Given the description of an element on the screen output the (x, y) to click on. 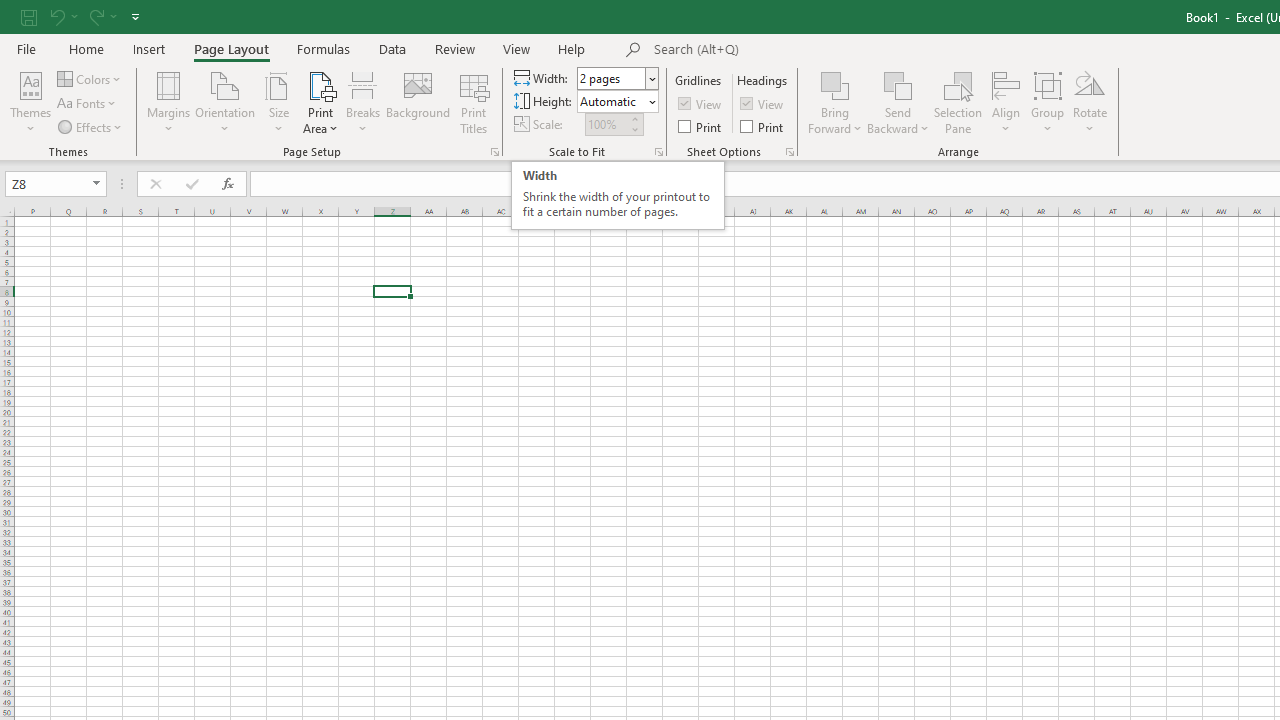
Less (633, 129)
Selection Pane... (958, 102)
Page Setup (658, 151)
Breaks (362, 102)
Undo (62, 15)
Rotate (1089, 102)
Colors (90, 78)
Group (1047, 102)
More (633, 118)
Insert (149, 48)
